Given the description of an element on the screen output the (x, y) to click on. 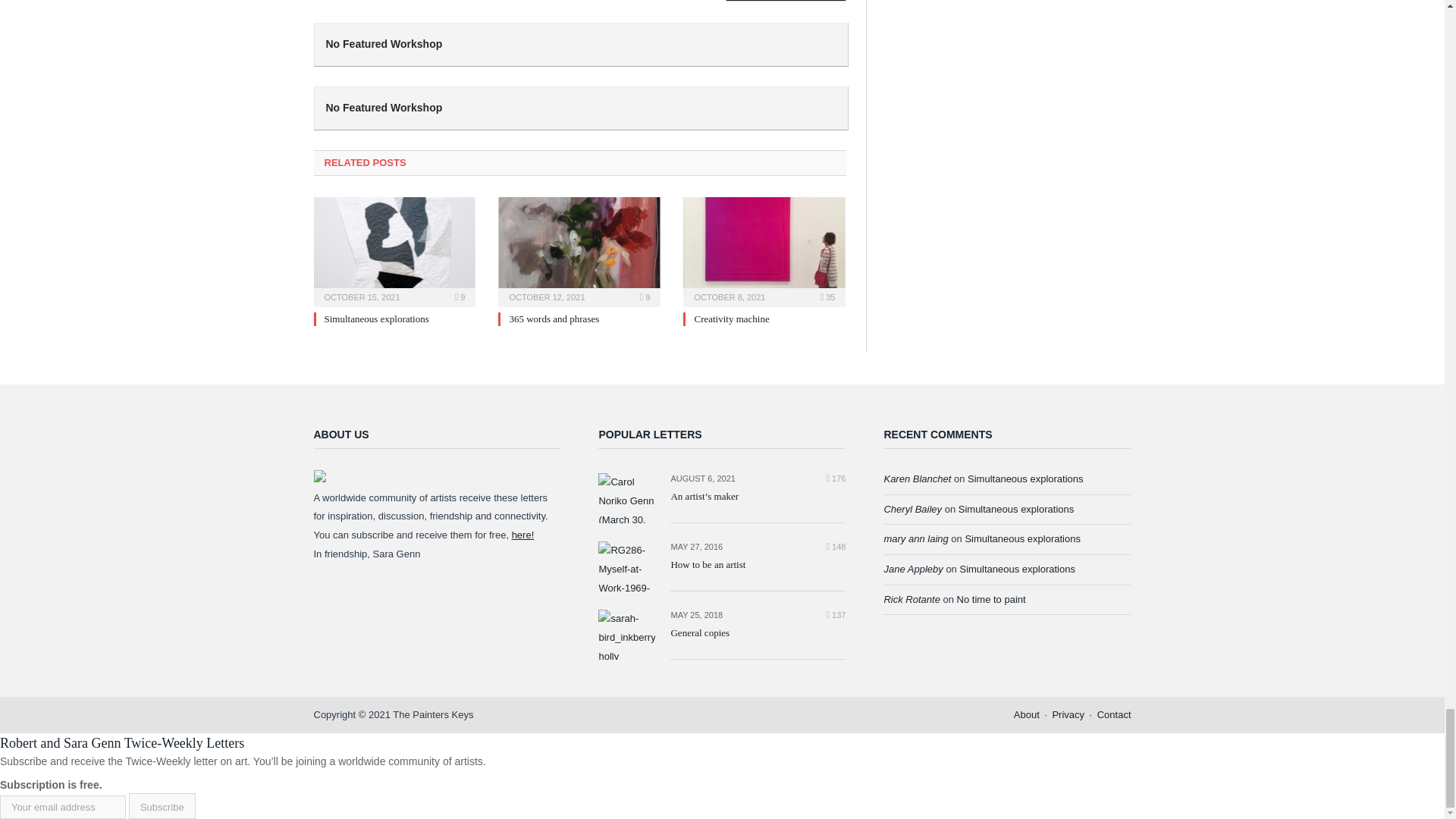
Post Comment (785, 0)
Post Comment (785, 0)
